Given the description of an element on the screen output the (x, y) to click on. 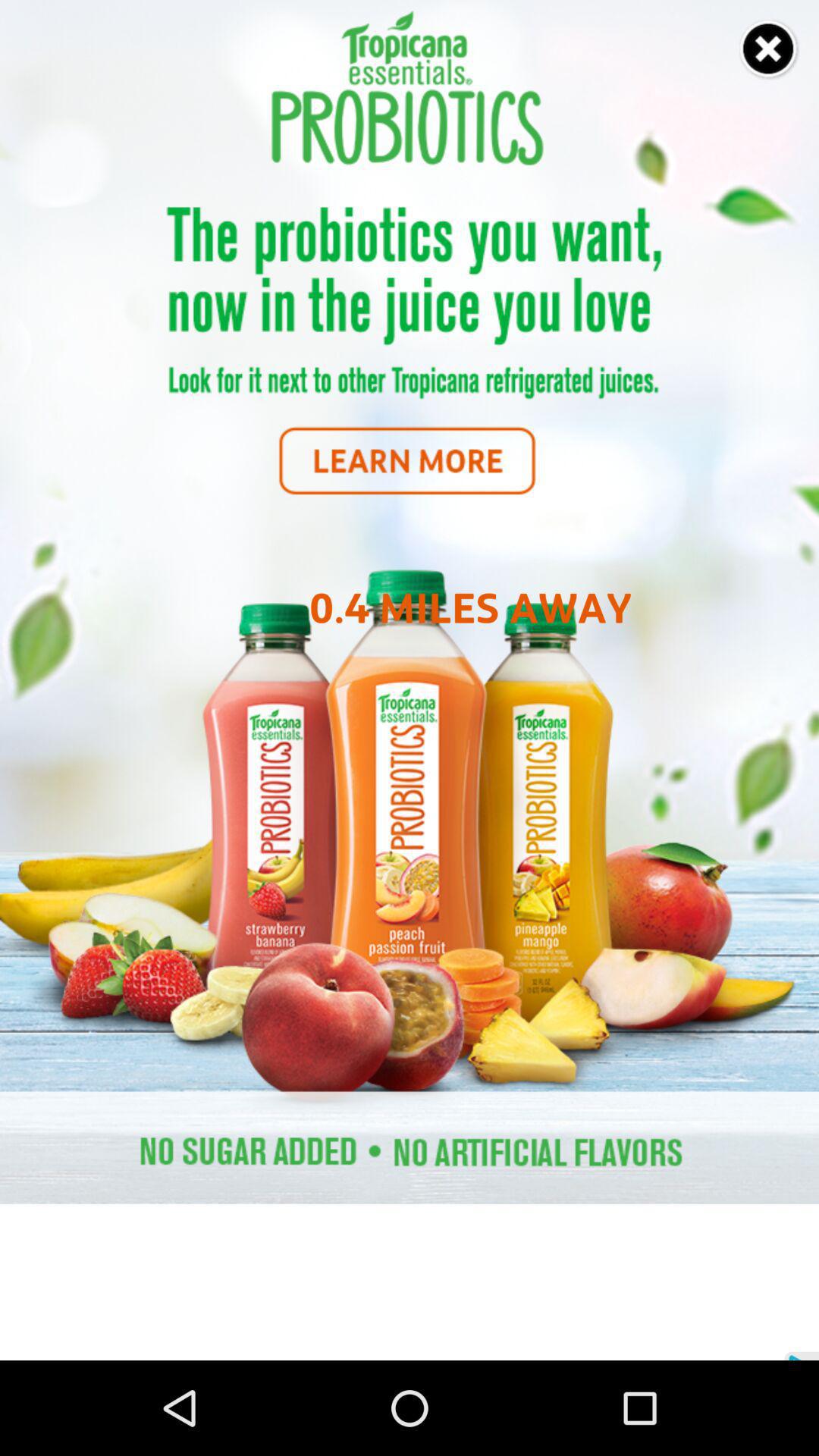
close page (769, 49)
